Given the description of an element on the screen output the (x, y) to click on. 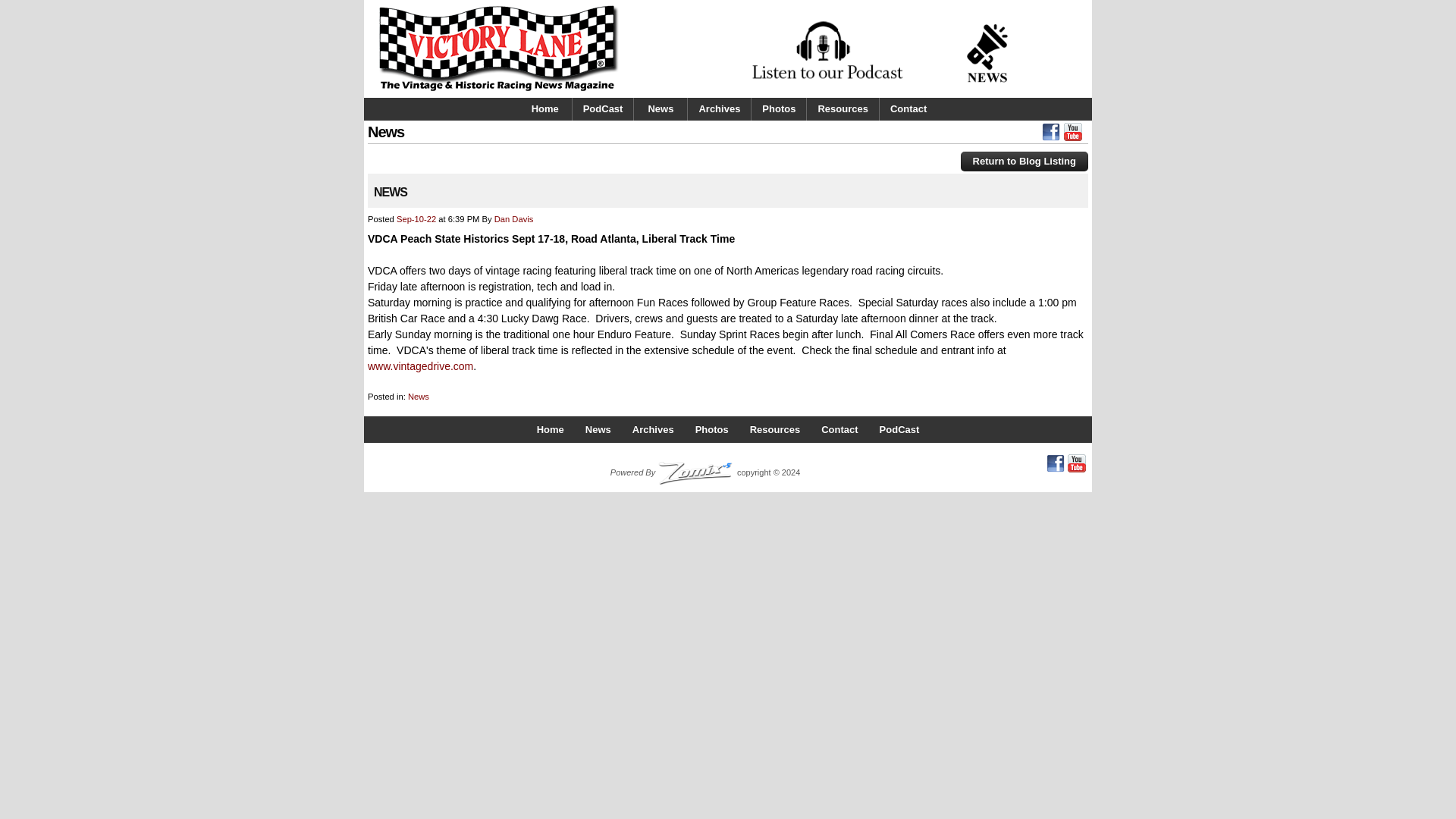
NEWS (390, 192)
Photos (711, 429)
Visit Us On YouTube! (1072, 135)
News (598, 429)
PodCast (899, 429)
View all posts in News (418, 396)
Victory Lane Magazine (498, 91)
Archives (719, 108)
PodCast (602, 108)
Visit us on Facebook (1055, 463)
Visit Us On Facebook! (1050, 135)
Resources (774, 429)
Photos (778, 108)
Return to Blog Listing (1023, 161)
Contact (838, 429)
